Given the description of an element on the screen output the (x, y) to click on. 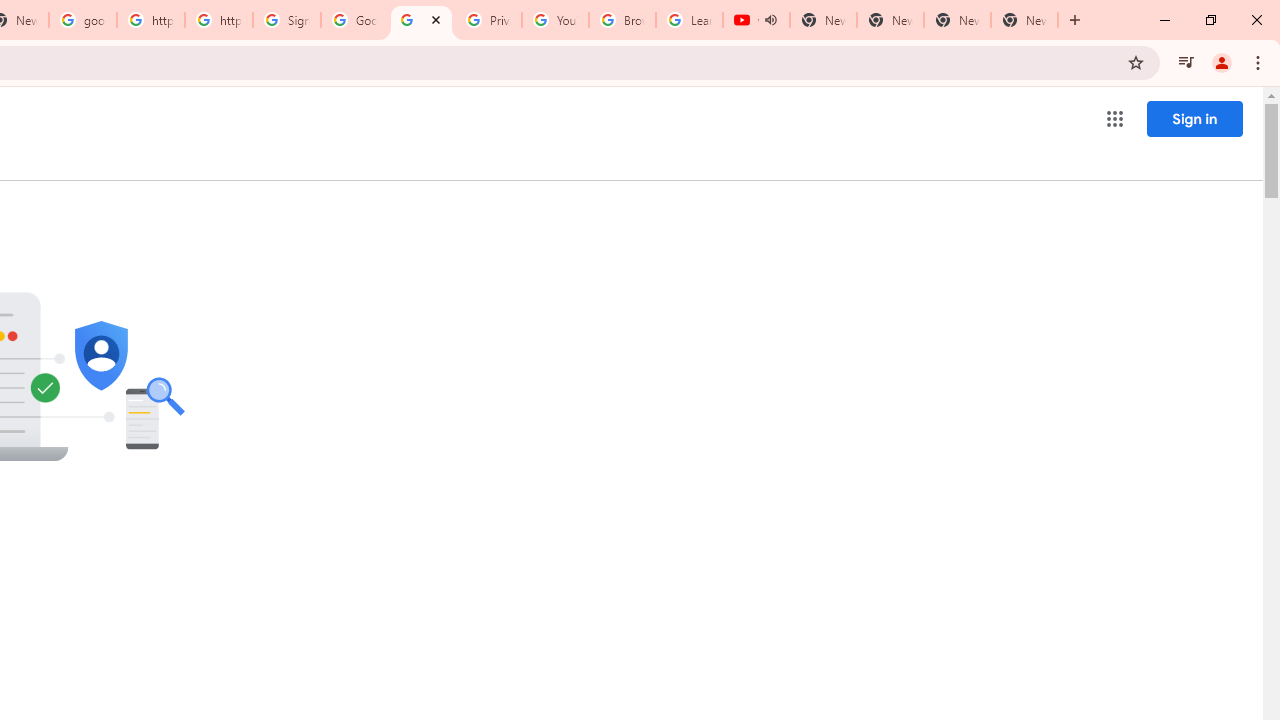
Sign in - Google Accounts (287, 20)
https://scholar.google.com/ (219, 20)
https://scholar.google.com/ (150, 20)
